Given the description of an element on the screen output the (x, y) to click on. 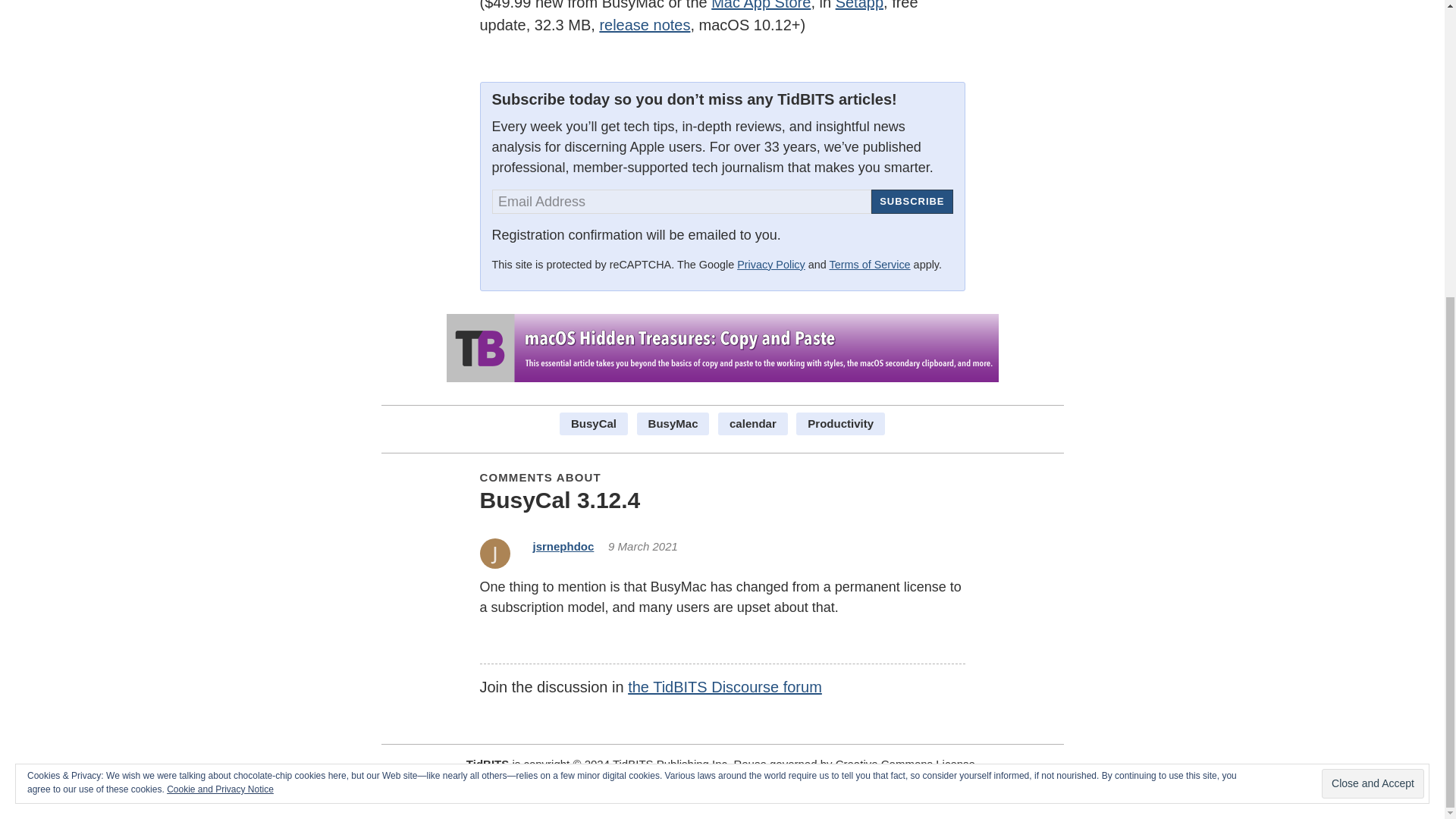
Close and Accept (1372, 325)
